Given the description of an element on the screen output the (x, y) to click on. 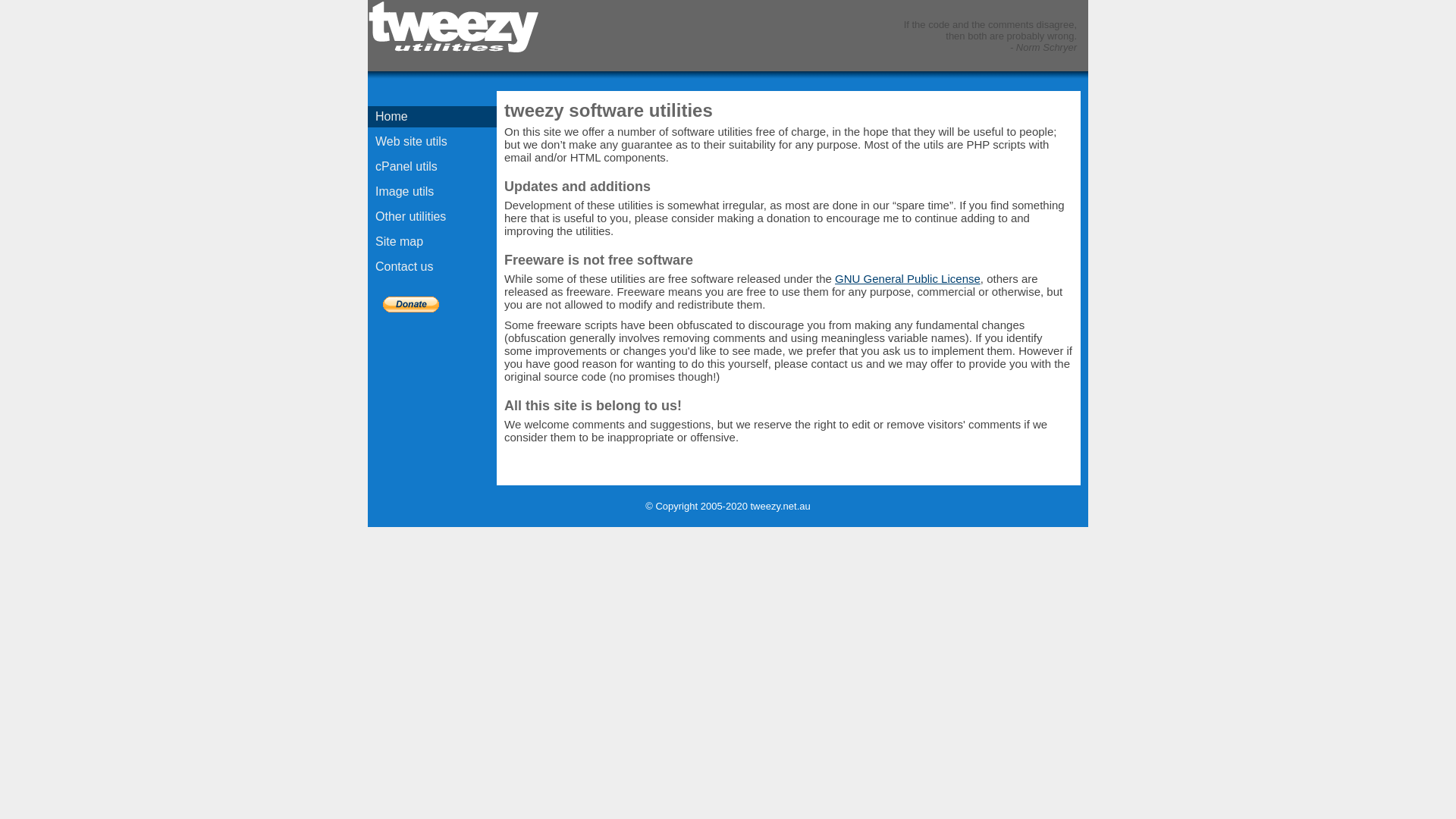
Web site utils Element type: text (431, 141)
Home Element type: text (431, 116)
Image utils Element type: text (431, 191)
Contact us Element type: text (431, 266)
Site map Element type: text (431, 241)
Other utilities Element type: text (431, 216)
GNU General Public License Element type: text (907, 278)
cPanel utils Element type: text (431, 166)
